Given the description of an element on the screen output the (x, y) to click on. 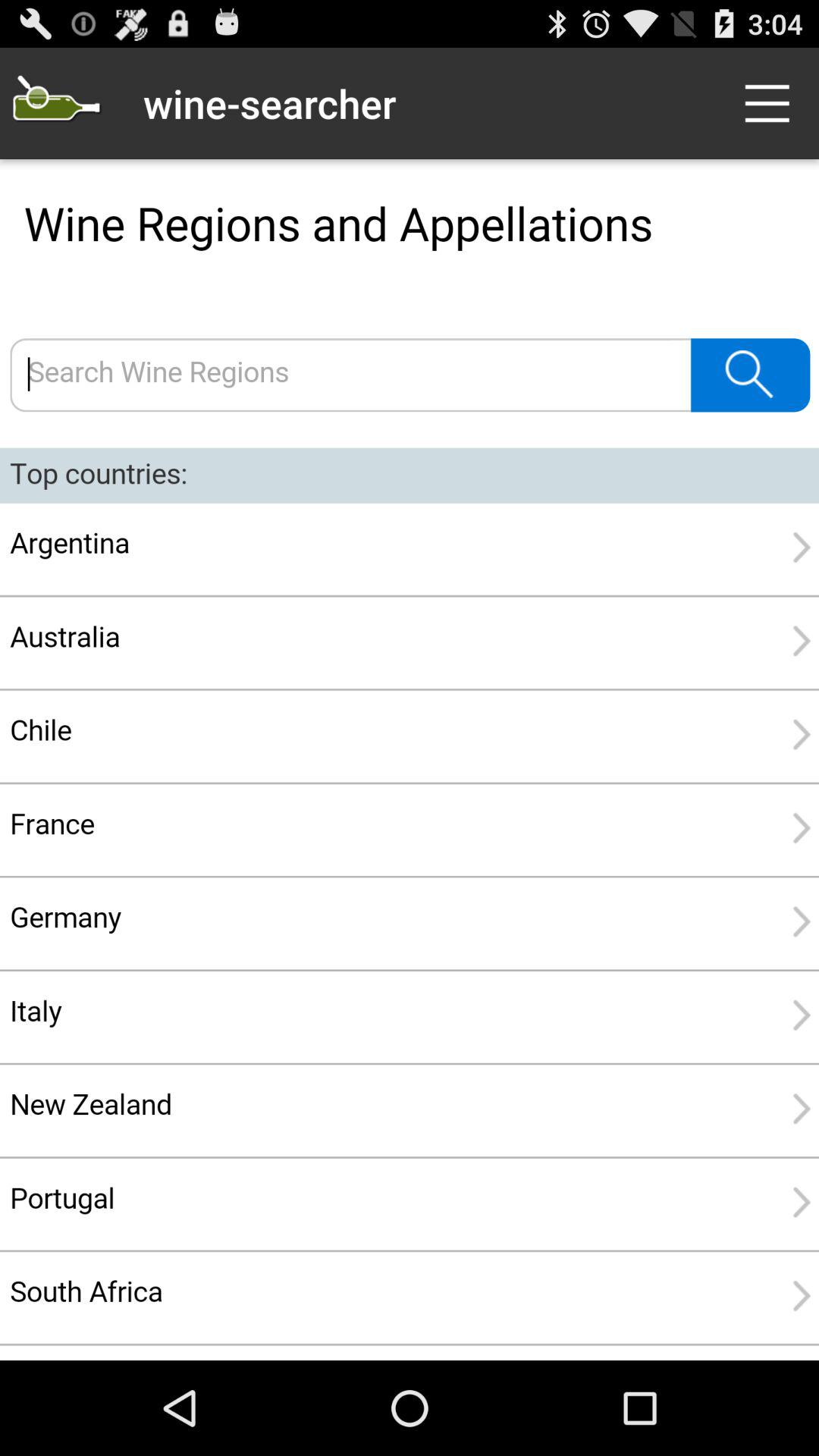
search wine regions (409, 759)
